Given the description of an element on the screen output the (x, y) to click on. 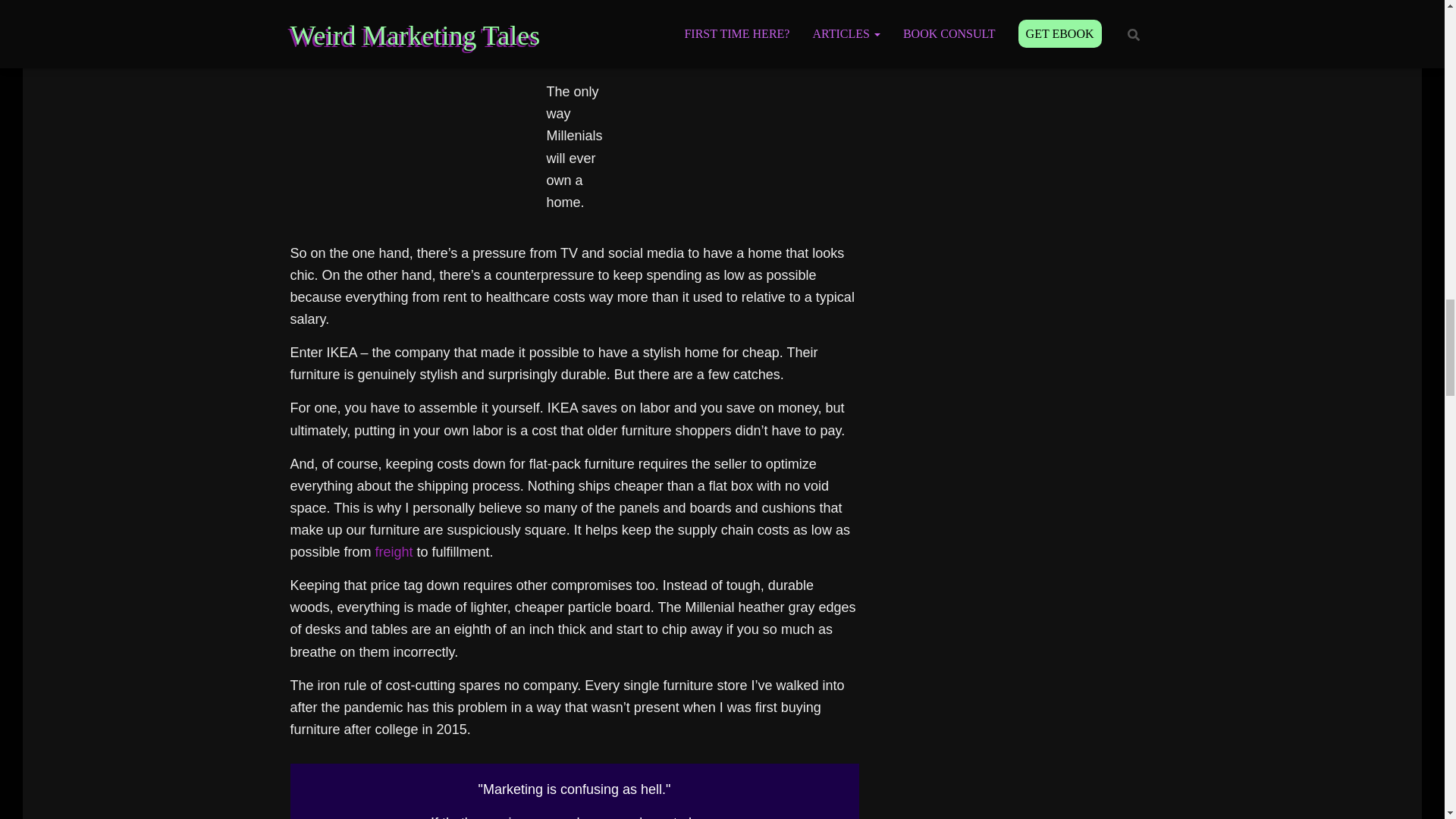
freight (394, 551)
